Given the description of an element on the screen output the (x, y) to click on. 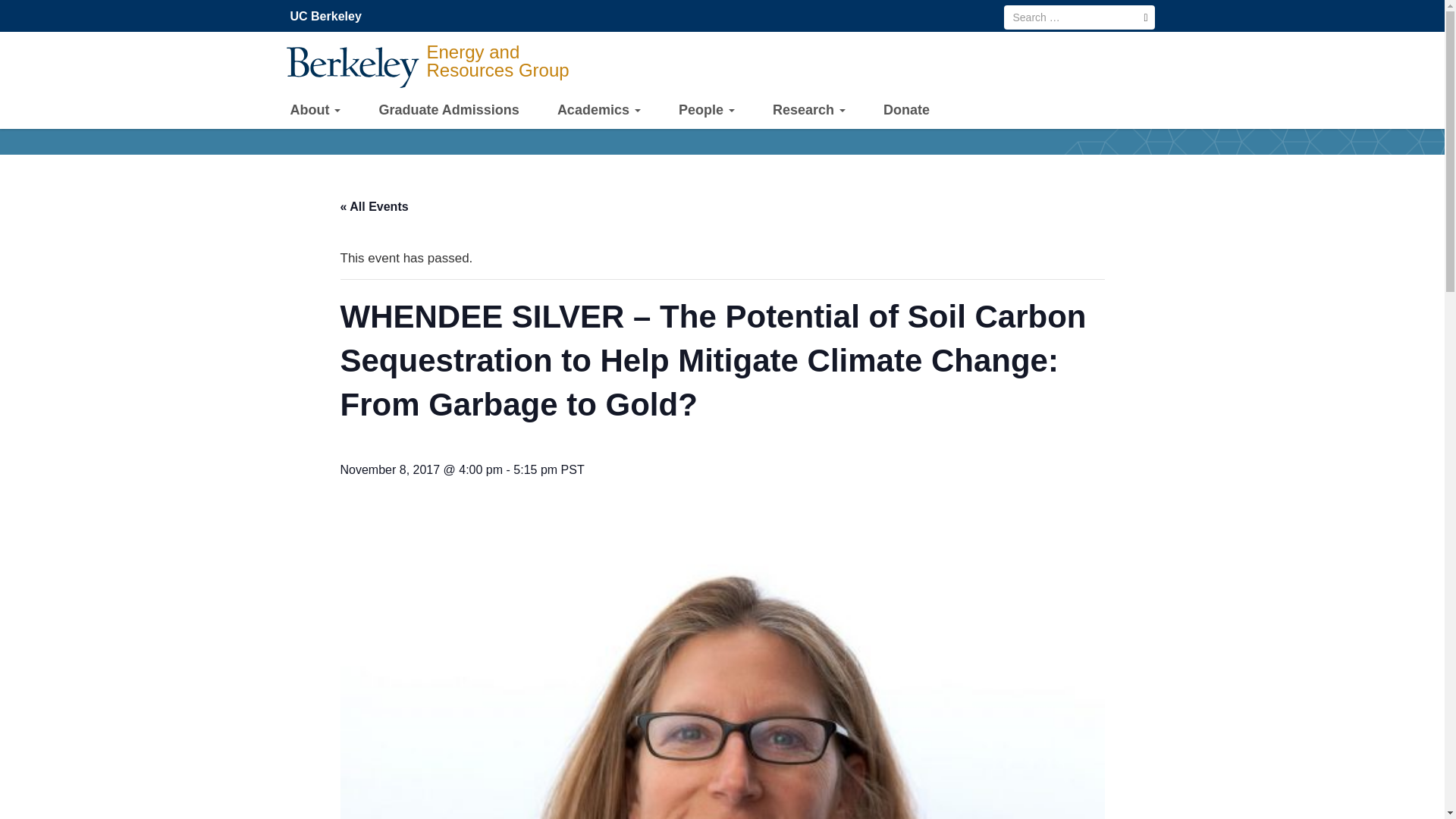
About (314, 112)
About (314, 112)
Skip to main content (10, 4)
UC Berkeley (329, 16)
People (706, 112)
Research (809, 112)
Graduate Admissions (448, 110)
Graduate Admissions (448, 110)
People (706, 112)
Academics (598, 112)
Donate (906, 110)
search term (1079, 16)
Academics (598, 112)
